Given the description of an element on the screen output the (x, y) to click on. 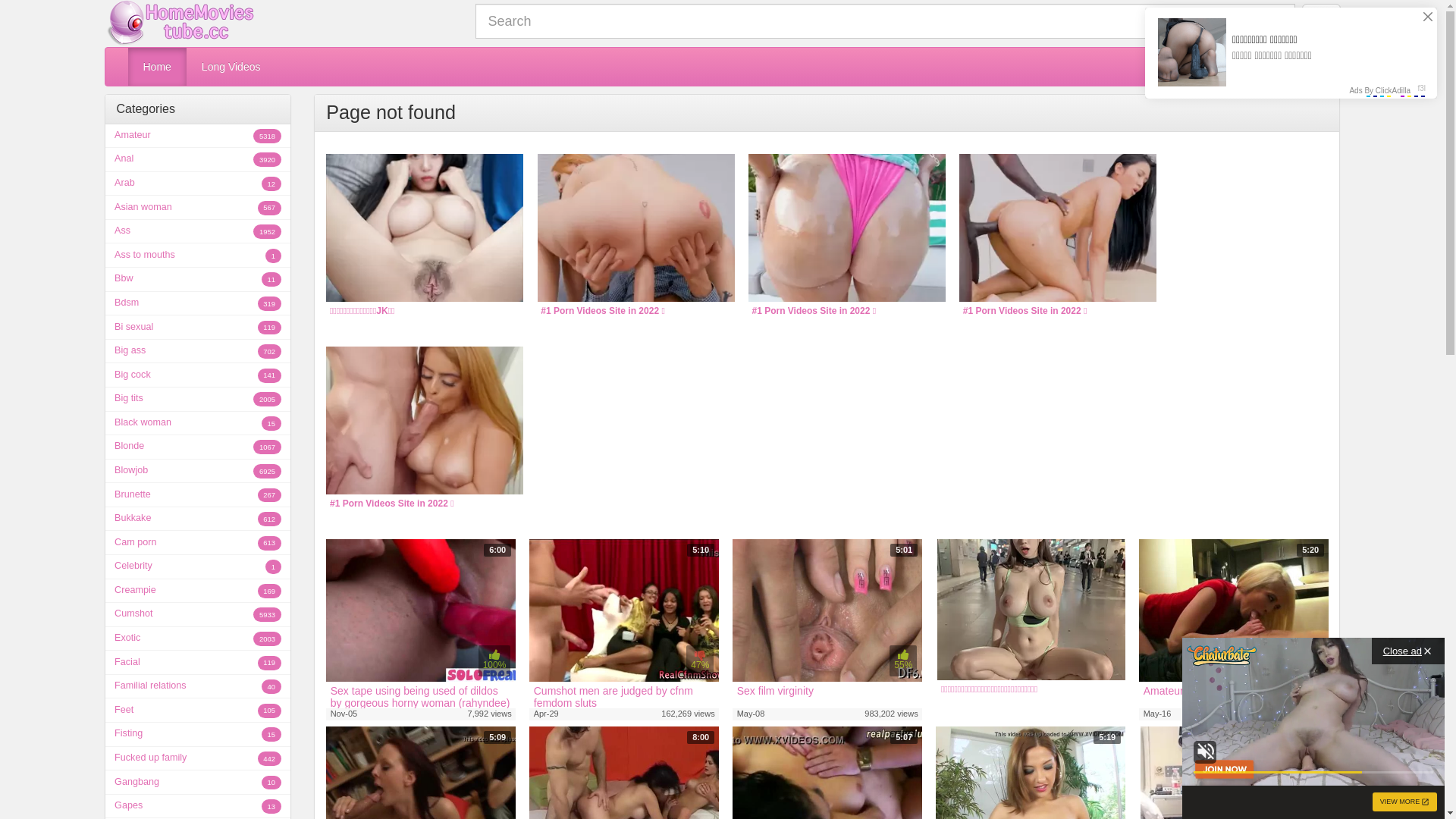
Facial
119 Element type: text (197, 662)
Arab
12 Element type: text (197, 184)
Ass
1952 Element type: text (197, 231)
Home Element type: text (156, 66)
Bdsm
319 Element type: text (197, 303)
Black woman
15 Element type: text (197, 423)
Cumshot
5933 Element type: text (197, 614)
Cam porn
613 Element type: text (197, 542)
Exotic
2003 Element type: text (197, 639)
Amateur
5318 Element type: text (197, 136)
Bbw
11 Element type: text (197, 279)
55%
Sex film virginity
5:01
May-08
983,202 views Element type: text (827, 629)
Fucked up family
442 Element type: text (197, 758)
Big tits
2005 Element type: text (197, 399)
Feet
105 Element type: text (197, 710)
Big ass
702 Element type: text (197, 351)
Blonde
1067 Element type: text (197, 447)
Creampie
169 Element type: text (197, 591)
Gangbang
10 Element type: text (197, 782)
Anal
3920 Element type: text (197, 159)
Celebrity
1 Element type: text (197, 567)
Long Videos Element type: text (231, 66)
Bi sexual
119 Element type: text (197, 327)
Asian woman
567 Element type: text (197, 207)
Blowjob
6925 Element type: text (197, 471)
Familial relations
40 Element type: text (197, 686)
Bukkake
612 Element type: text (197, 519)
Ass to mouths
1 Element type: text (197, 255)
Big cock
141 Element type: text (197, 375)
Fisting
15 Element type: text (197, 734)
Brunette
267 Element type: text (197, 495)
